Given the description of an element on the screen output the (x, y) to click on. 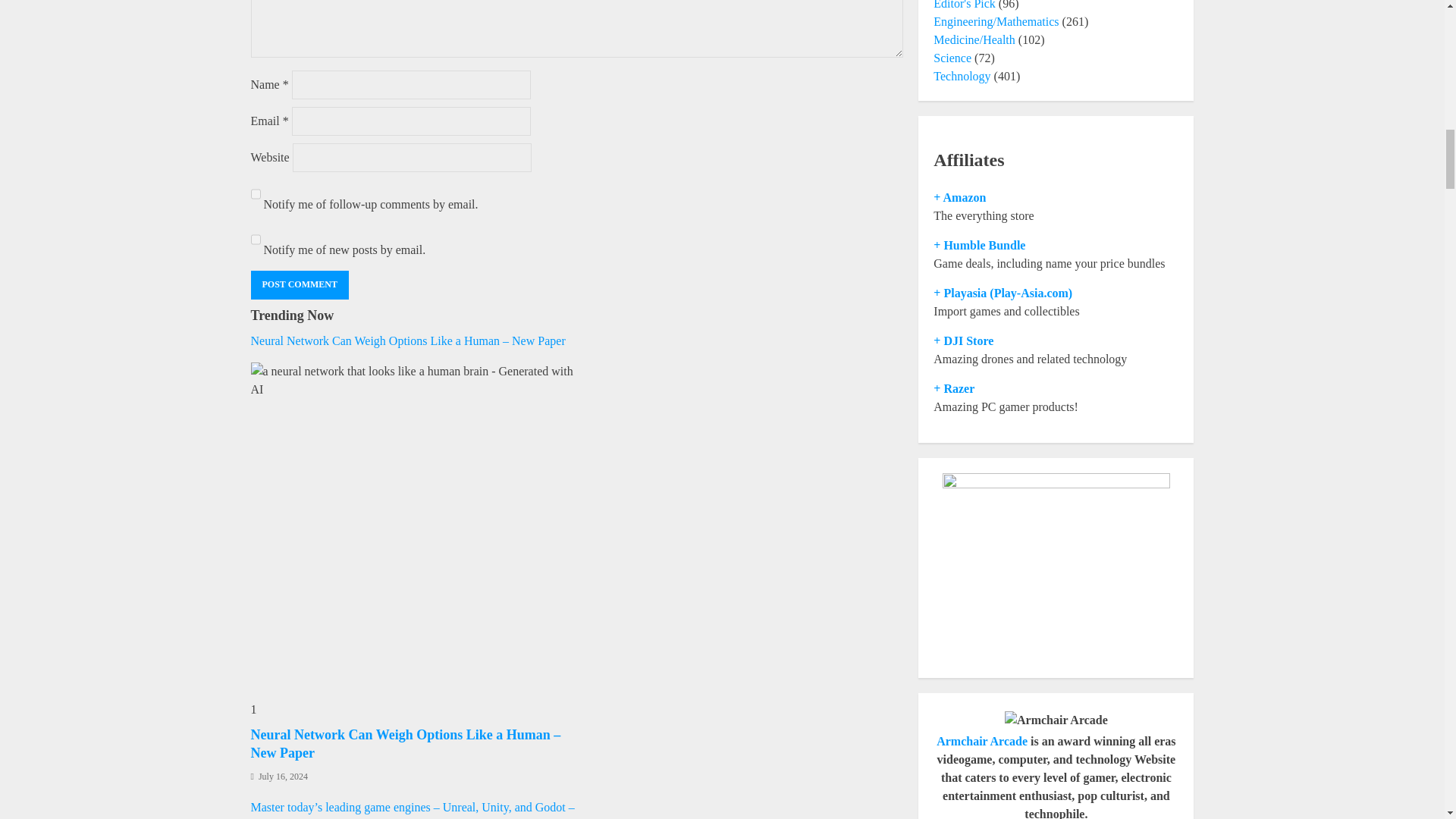
Post Comment (298, 285)
